Given the description of an element on the screen output the (x, y) to click on. 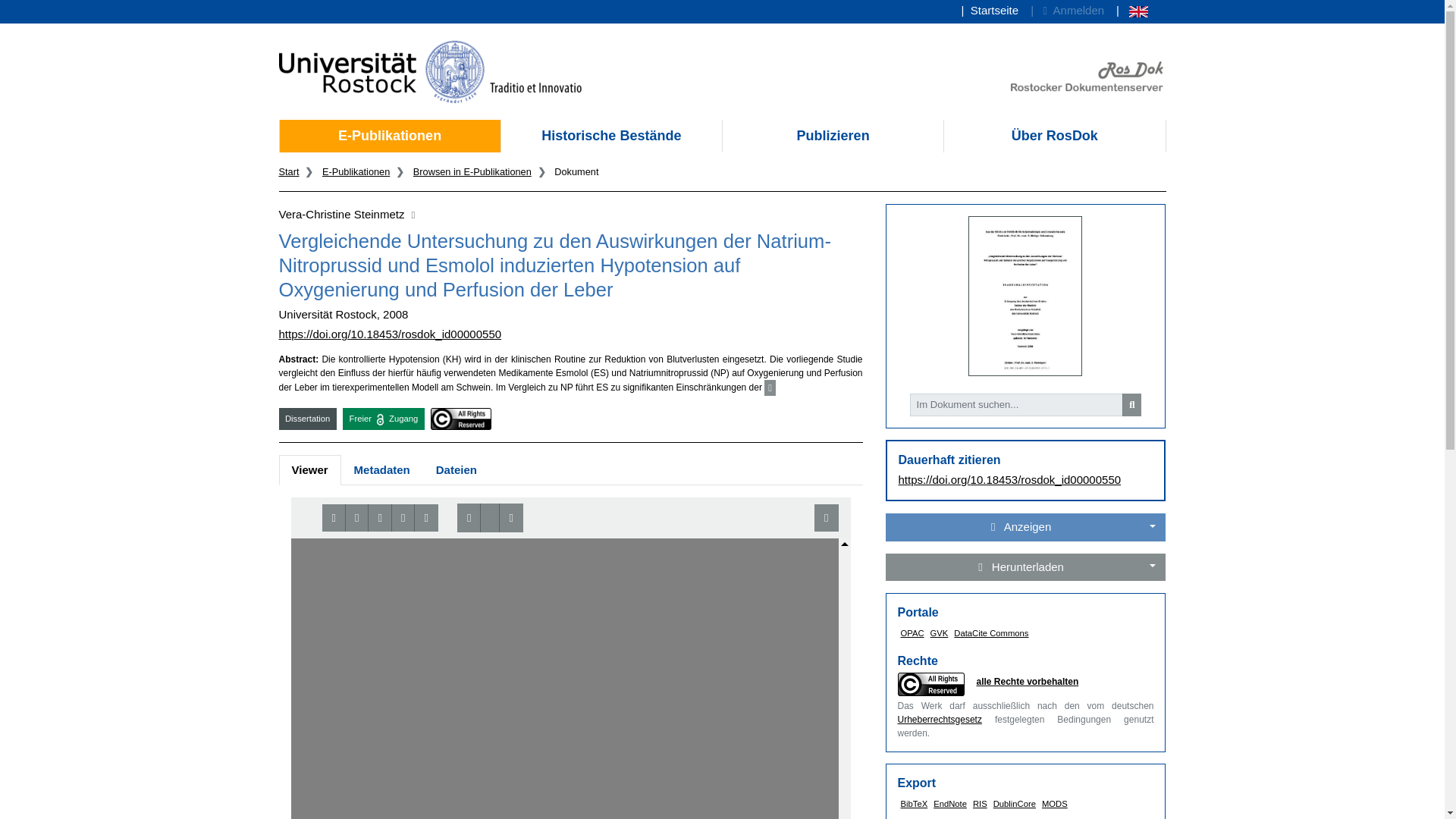
Startseite (990, 11)
  Anmelden (1067, 11)
Start (289, 171)
Dateien (456, 470)
E-Publikationen (389, 135)
Publizieren (832, 135)
Metadaten (381, 470)
Viewer (309, 470)
Rostocker Dokumentenserver (1086, 76)
page in English (1131, 11)
Browsen in E-Publikationen (472, 171)
E-Publikationen (355, 171)
